Given the description of an element on the screen output the (x, y) to click on. 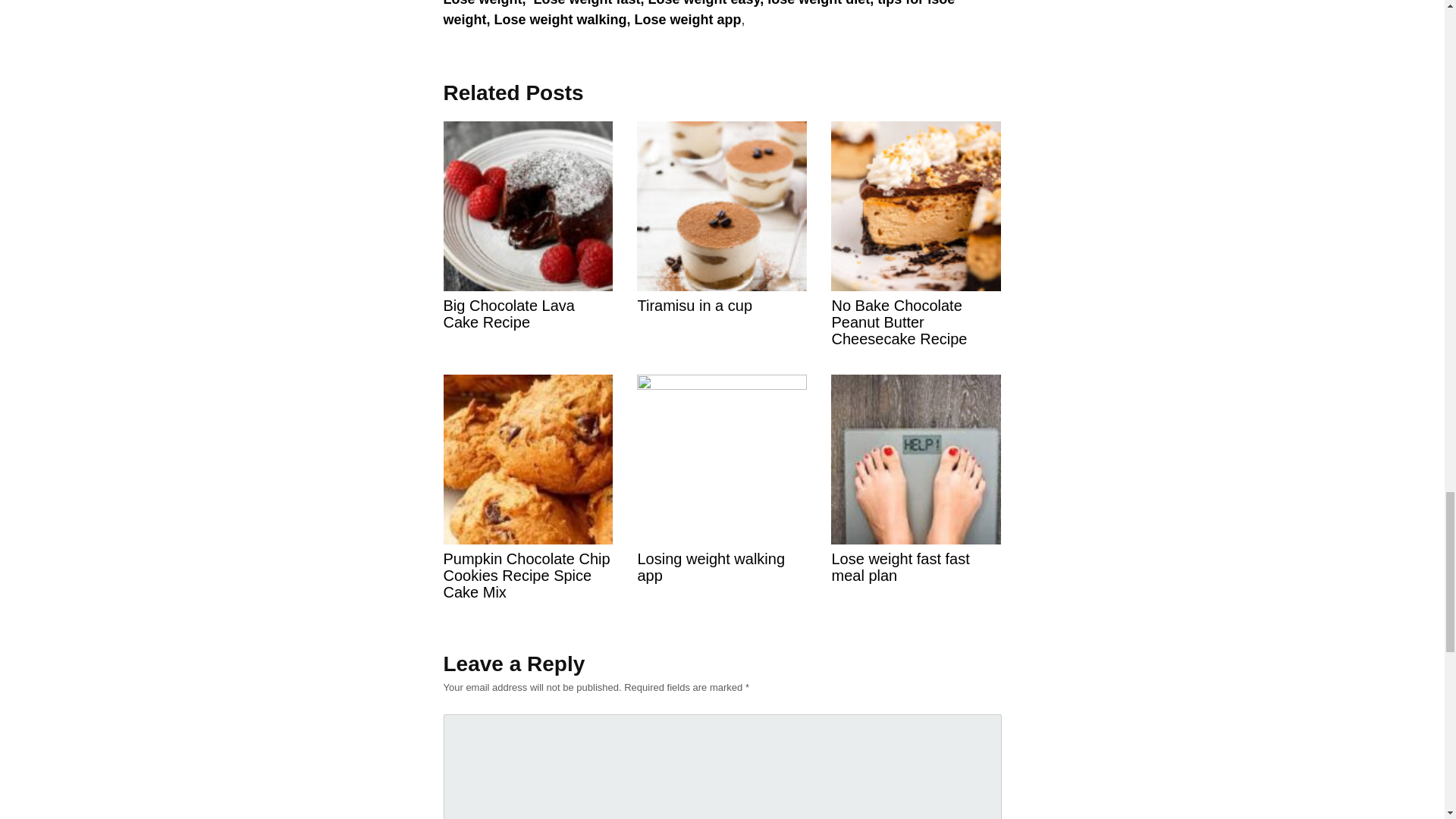
No Bake Chocolate Peanut Butter Cheesecake Recipe (916, 273)
Tiramisu in a cup (721, 256)
Big Chocolate Lava Cake Recipe (527, 264)
Pumpkin Chocolate Chip Cookies Recipe Spice Cake Mix (527, 526)
Lose weight fast fast meal plan (916, 517)
Losing weight walking app (721, 517)
